Given the description of an element on the screen output the (x, y) to click on. 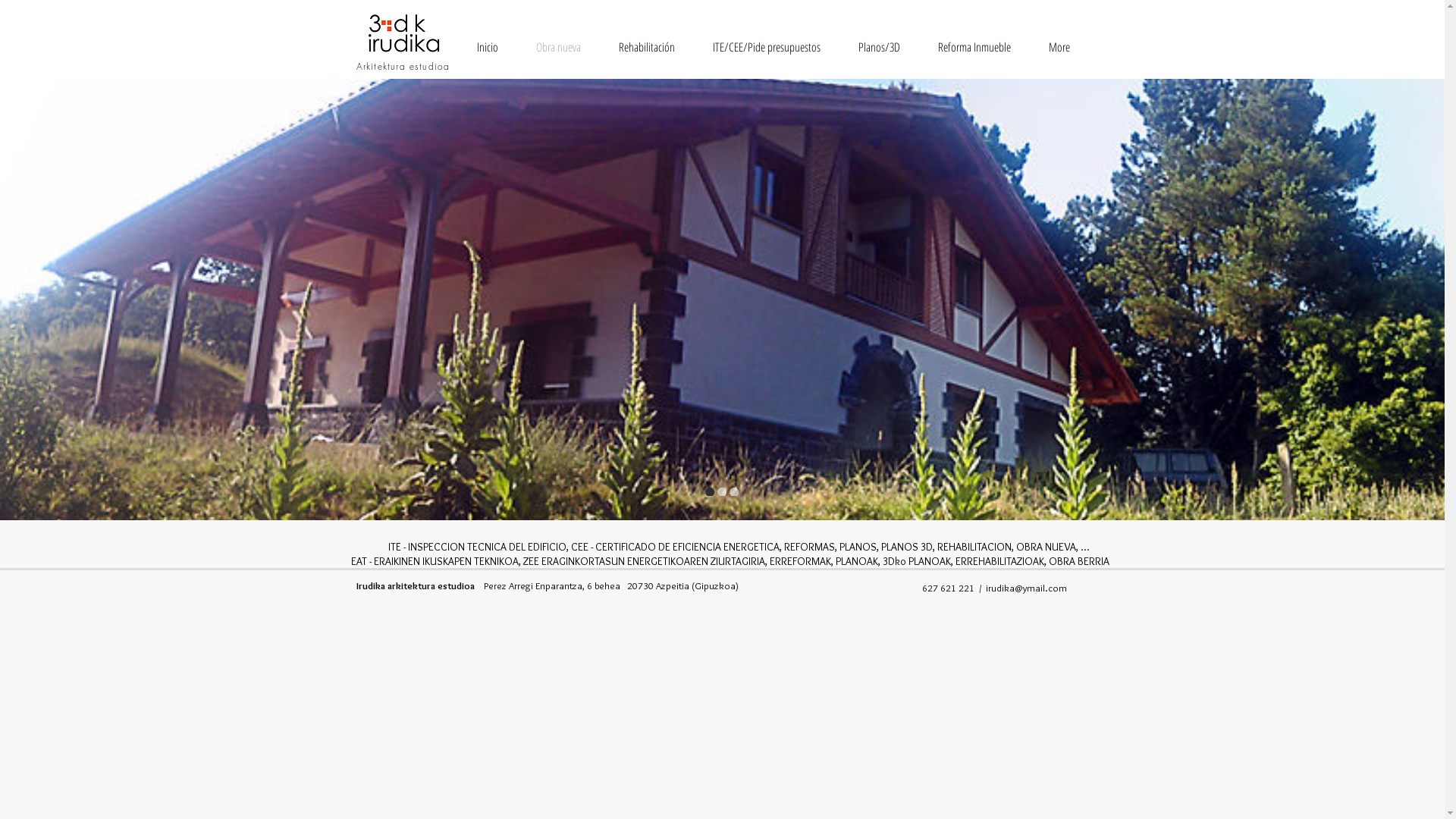
Planos/3D Element type: text (878, 46)
irudika@ymail.com Element type: text (1025, 587)
Inicio Element type: text (487, 46)
Arkitektura estudioa Element type: text (403, 65)
Reforma Inmueble Element type: text (974, 46)
Obra nueva Element type: text (558, 46)
ITE/CEE/Pide presupuestos Element type: text (765, 46)
